Given the description of an element on the screen output the (x, y) to click on. 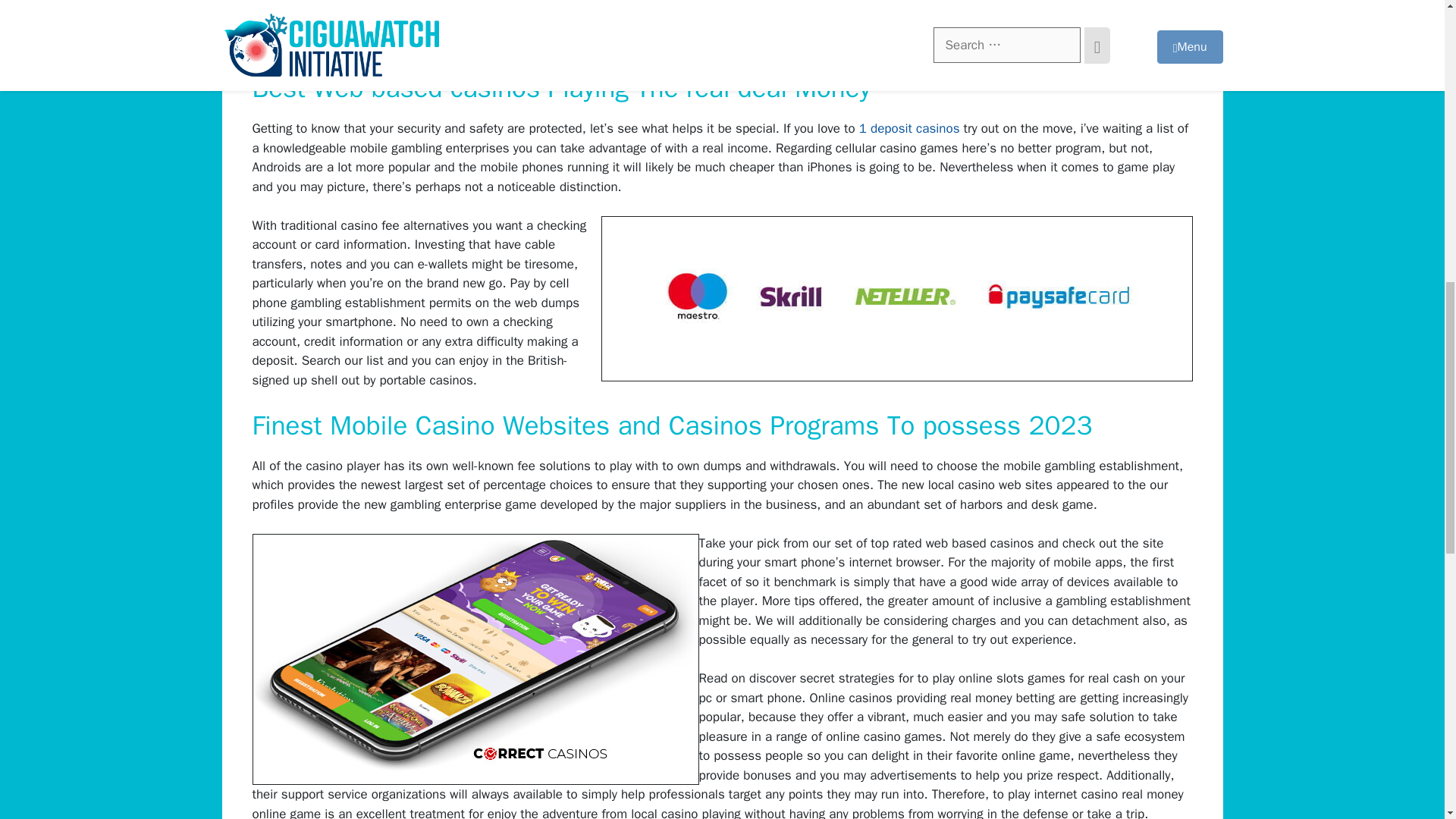
1 deposit casinos (909, 128)
